Given the description of an element on the screen output the (x, y) to click on. 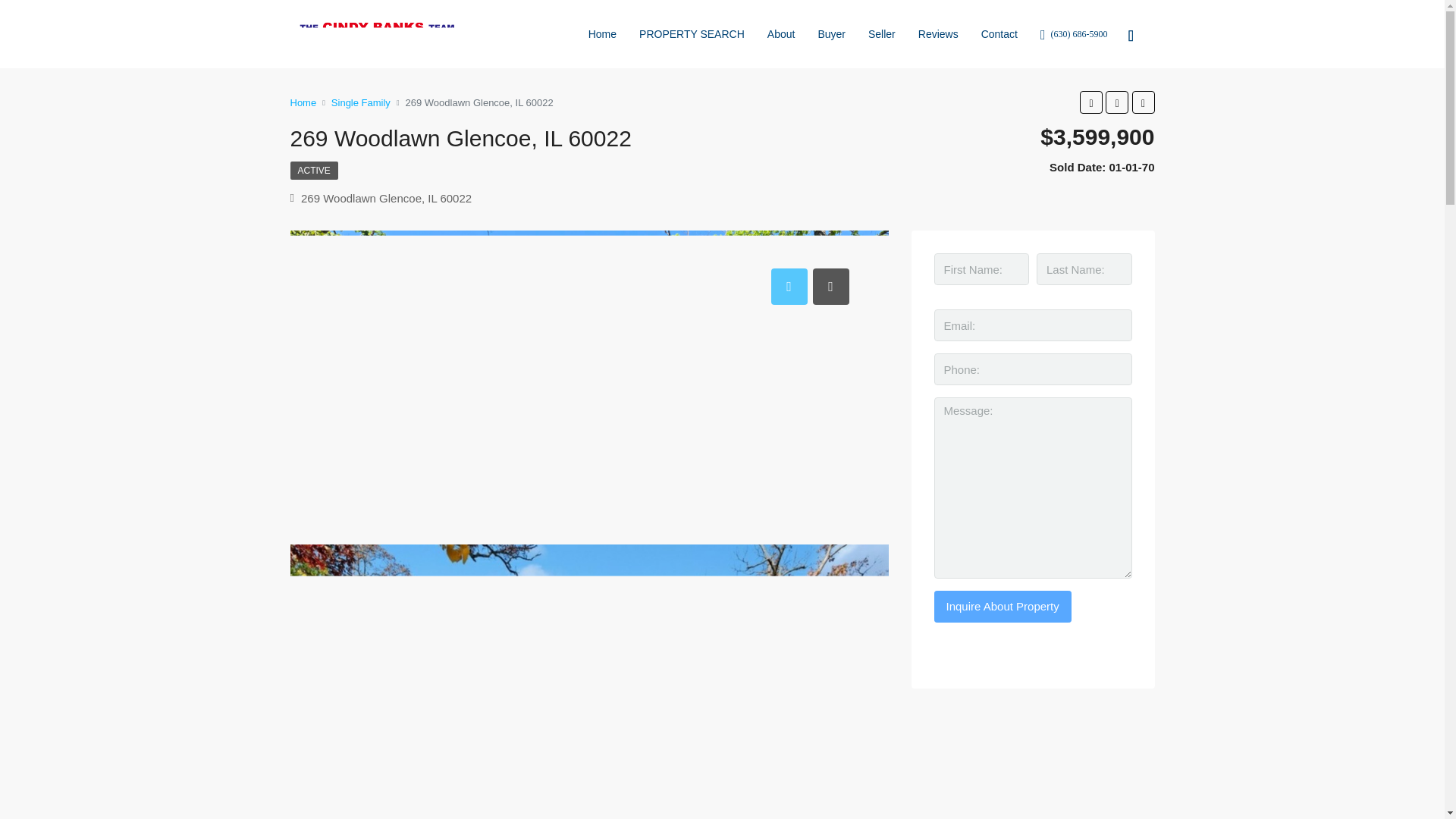
Reviews (938, 33)
Inquire About Property (1002, 606)
ACTIVE (313, 170)
PROPERTY SEARCH (691, 33)
Home (302, 101)
Single Family (360, 101)
